Given the description of an element on the screen output the (x, y) to click on. 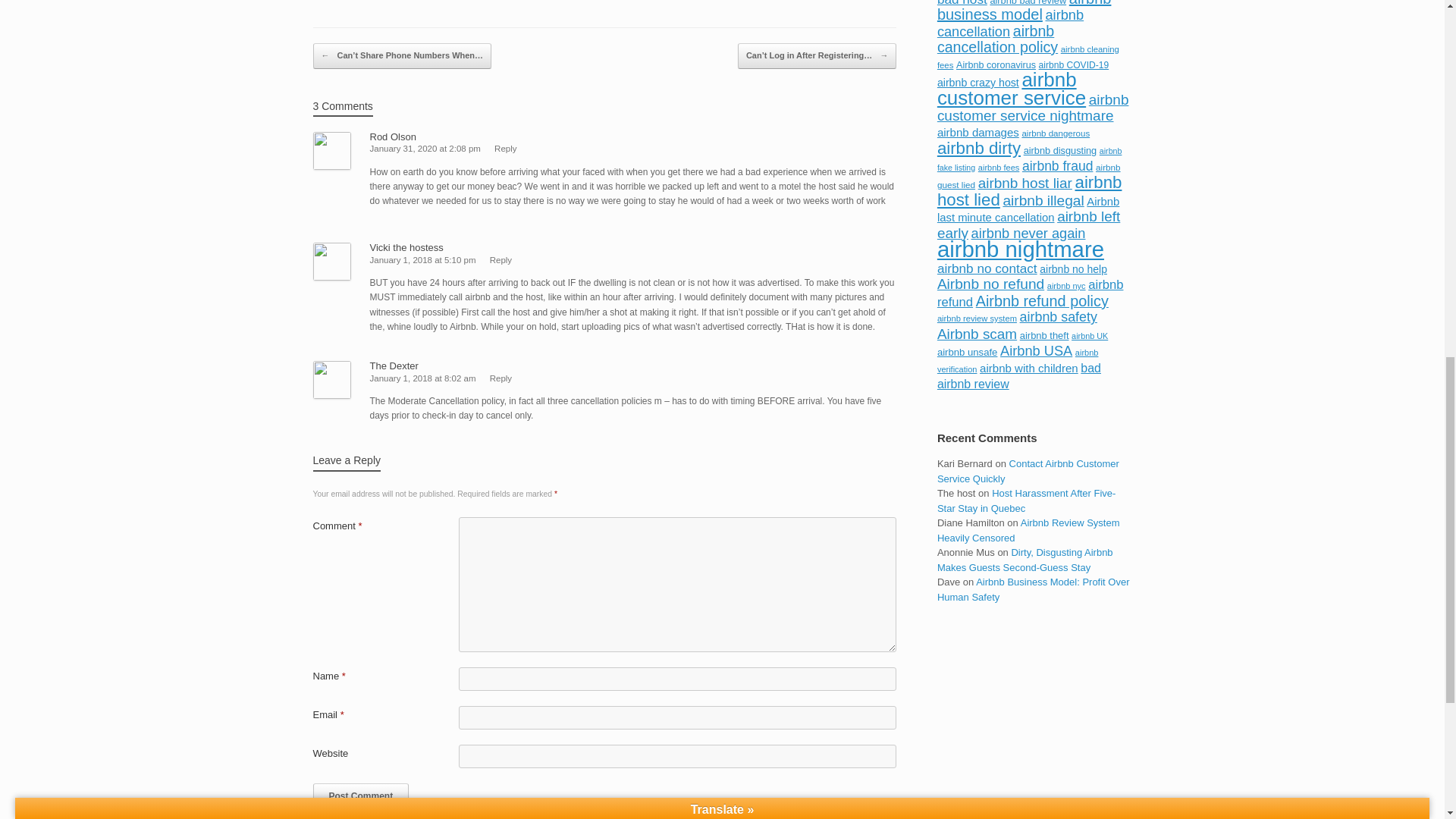
Post Comment (361, 795)
January 31, 2020 at 2:08 pm (424, 148)
